Given the description of an element on the screen output the (x, y) to click on. 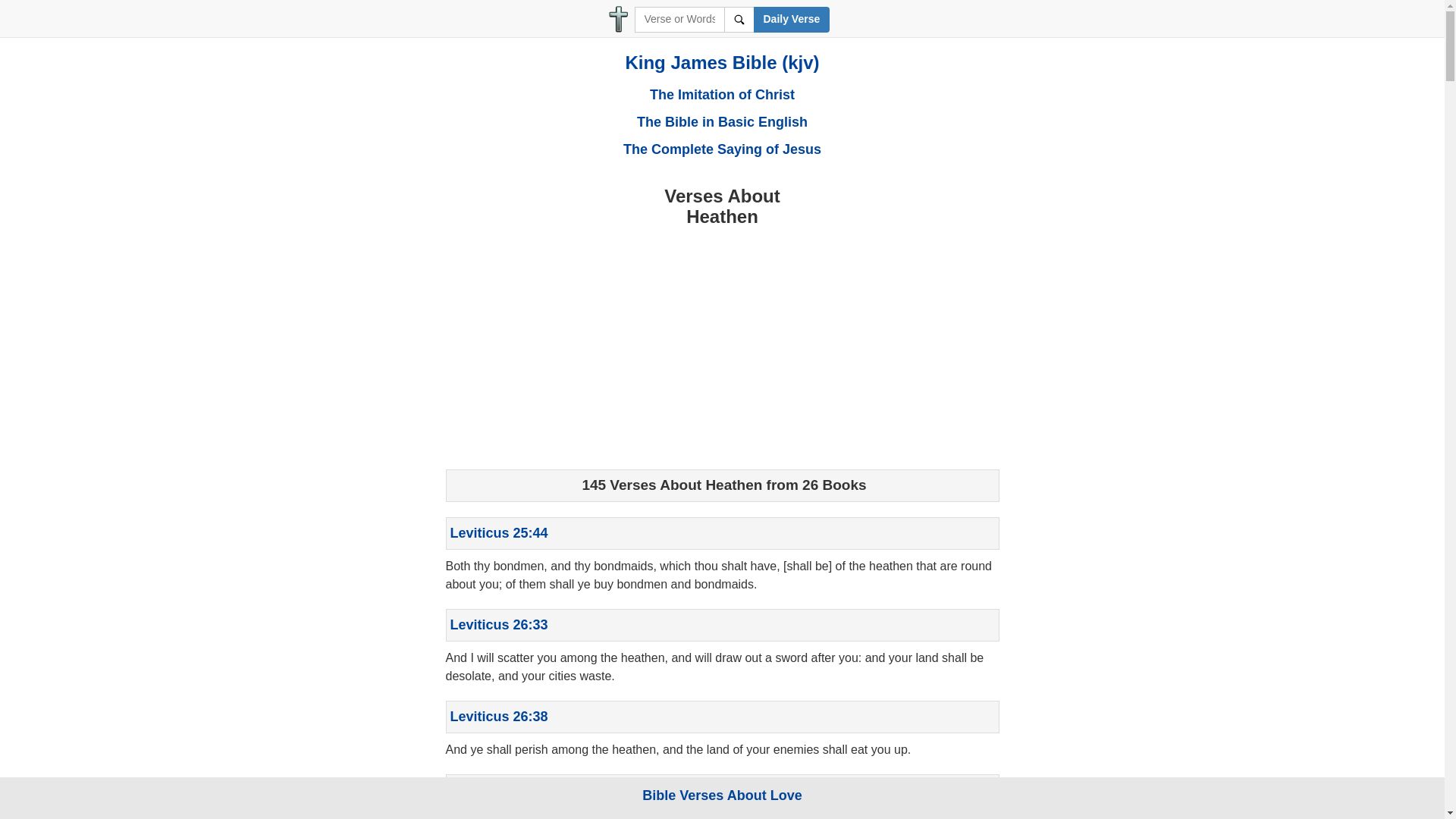
Leviticus 26:38 (498, 716)
The Bible in Basic English (722, 121)
Daily Verse (791, 19)
The Imitation of Christ (721, 94)
search (738, 19)
Leviticus 26:33 (498, 624)
Leviticus 26:45 (498, 789)
Leviticus 25:44 (498, 532)
The Complete Saying of Jesus (722, 149)
Advertisement (721, 343)
